Given the description of an element on the screen output the (x, y) to click on. 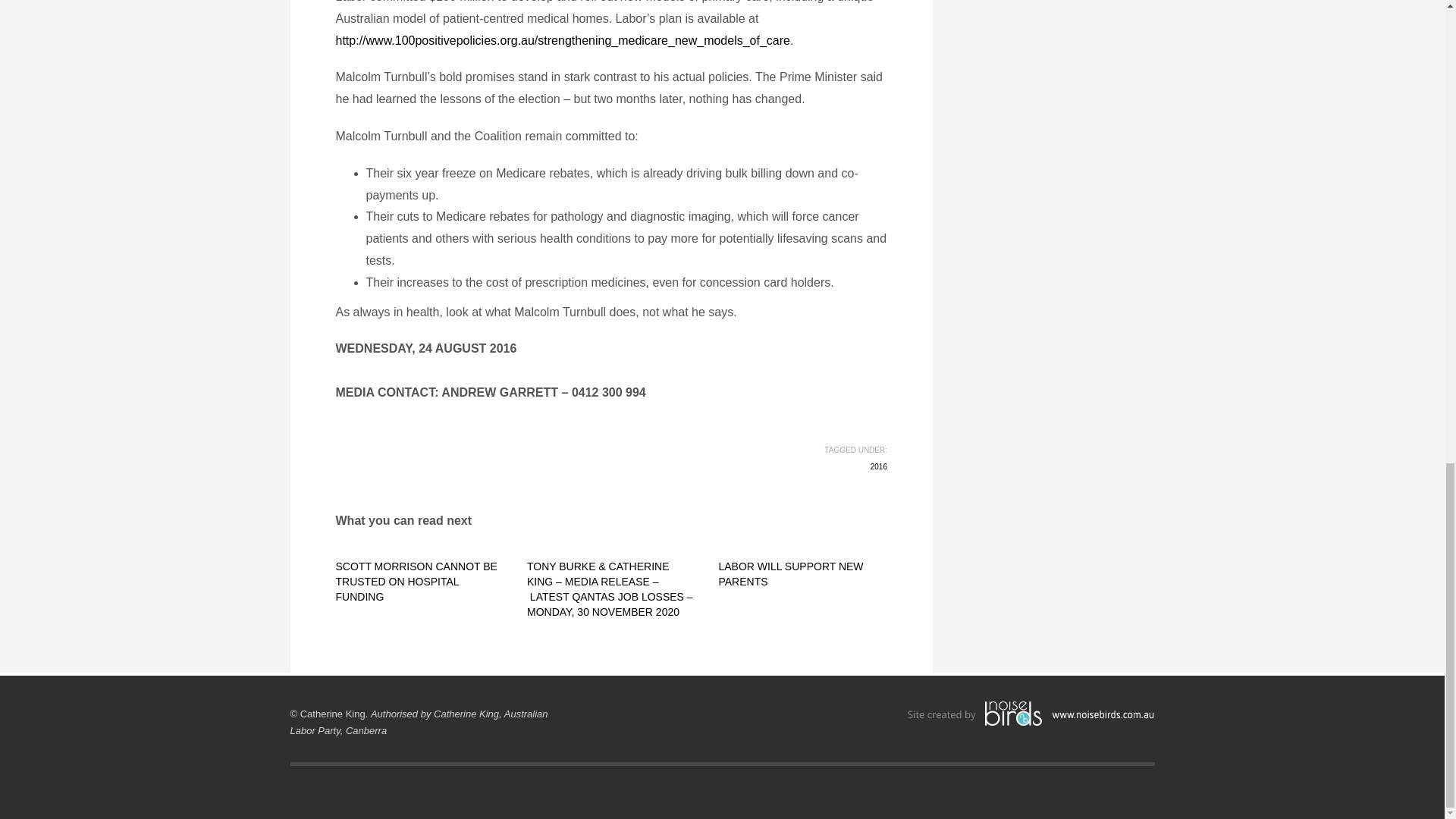
SCOTT MORRISON CANNOT BE TRUSTED ON HOSPITAL FUNDING (415, 581)
LABOR WILL SUPPORT NEW PARENTS (790, 574)
Noise Birds (1030, 713)
2016 (878, 466)
